Given the description of an element on the screen output the (x, y) to click on. 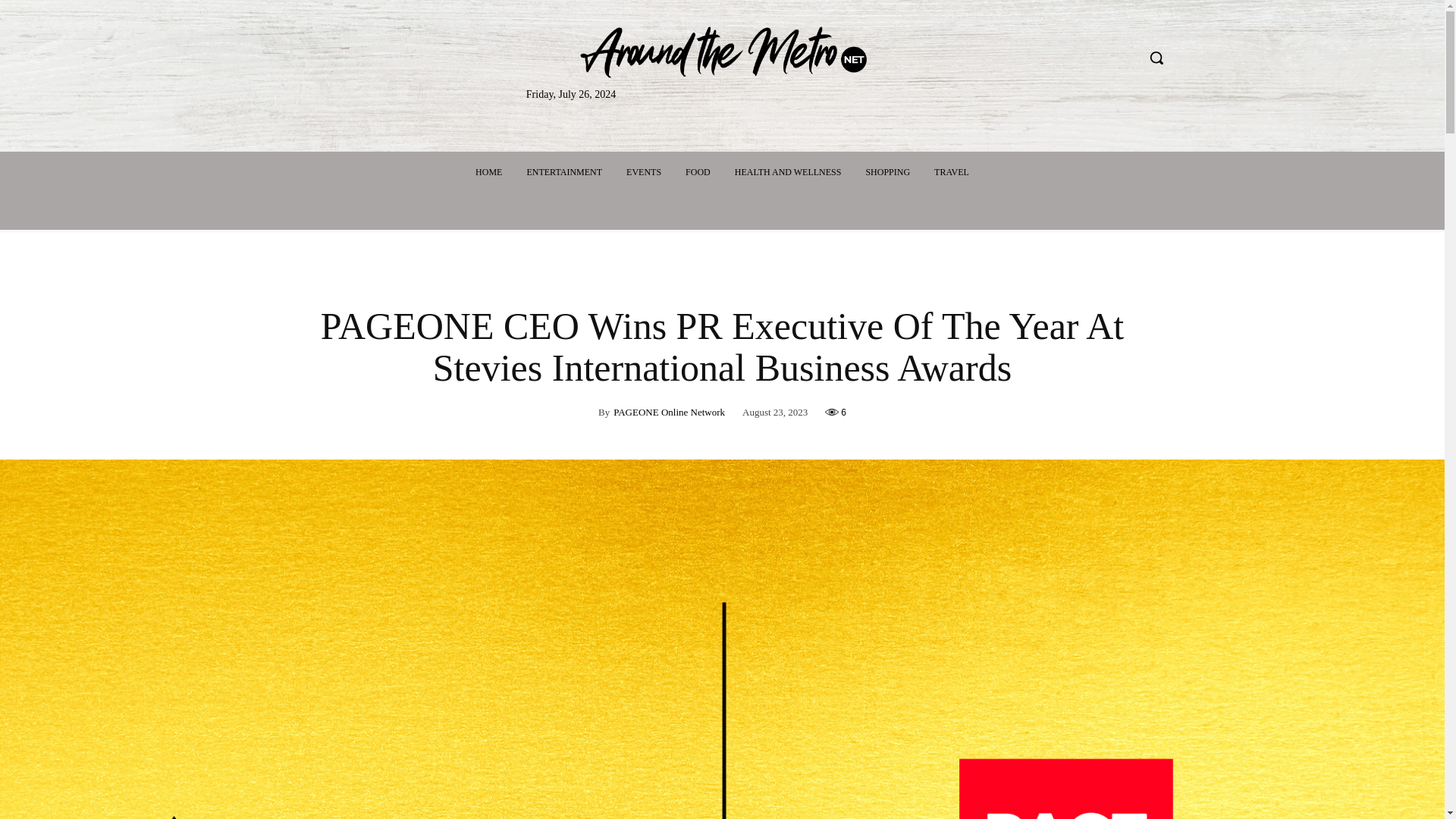
EVENTS (643, 172)
HEALTH AND WELLNESS (787, 172)
FOOD (697, 172)
ENTERTAINMENT (563, 172)
SHOPPING (887, 172)
HOME (488, 172)
TRAVEL (951, 172)
PAGEONE Online Network (668, 412)
